Given the description of an element on the screen output the (x, y) to click on. 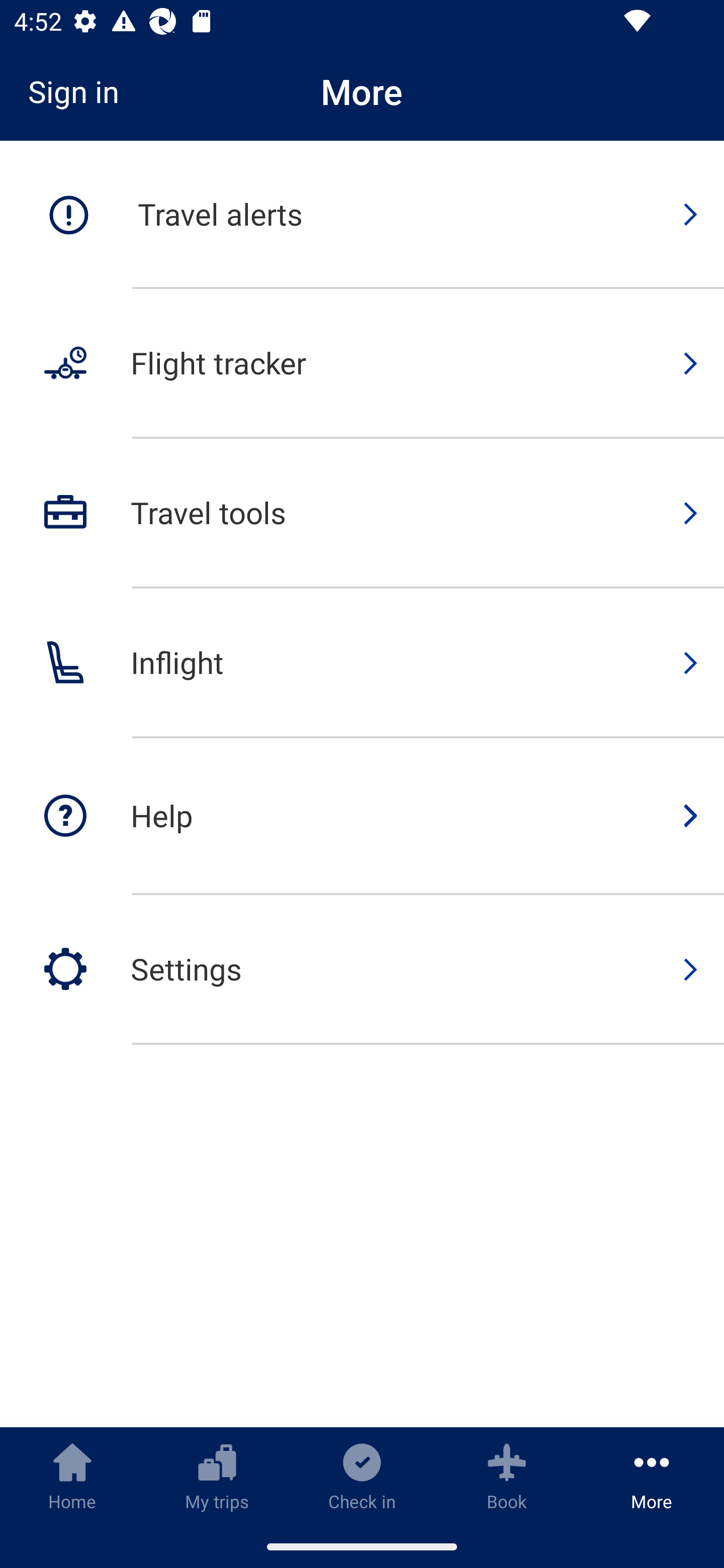
Sign in (80, 91)
Travel alerts (362, 214)
Flight tracker (362, 363)
Travel tools (362, 513)
Inflight (362, 663)
Help (362, 816)
Settings (362, 969)
Home (72, 1475)
My trips (216, 1475)
Check in (361, 1475)
Book (506, 1475)
